Given the description of an element on the screen output the (x, y) to click on. 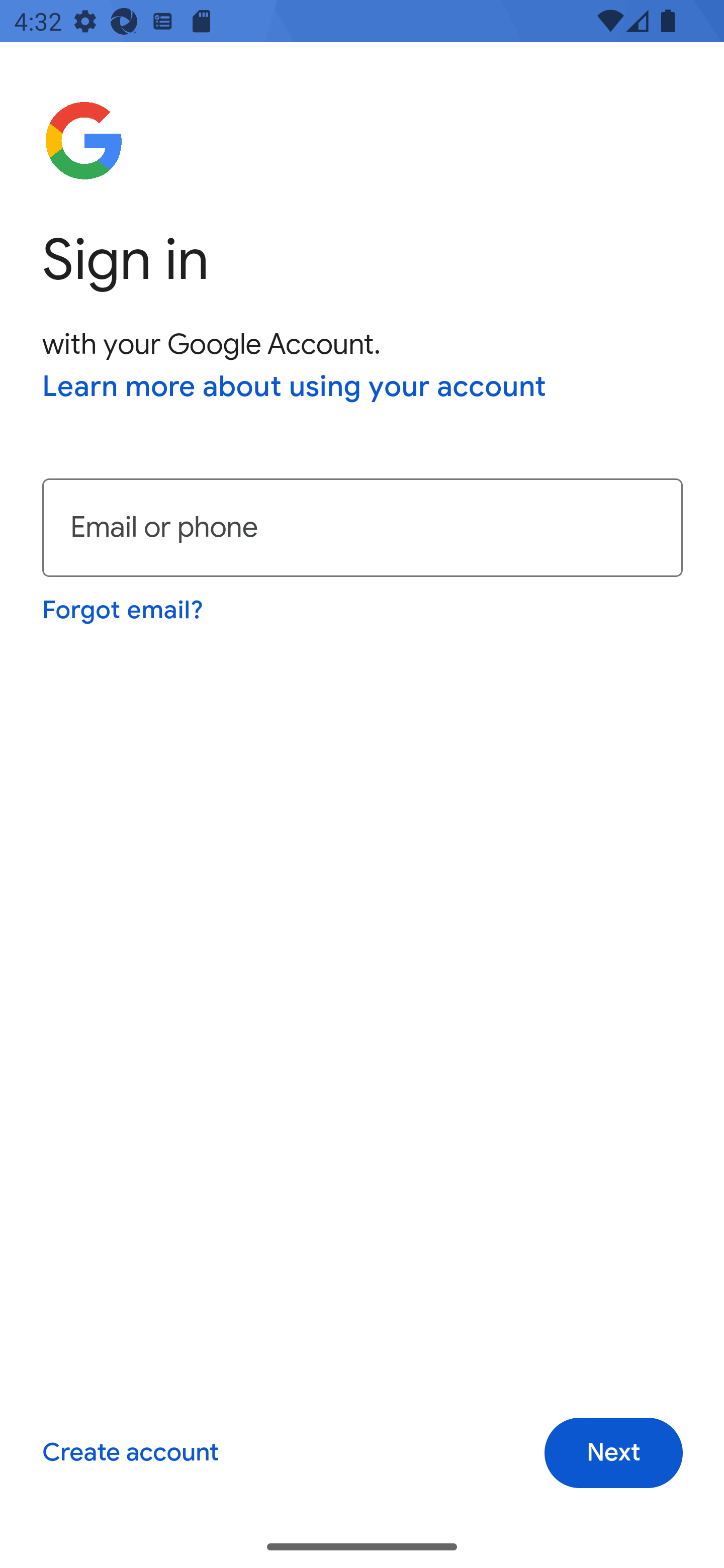
Learn more about using your account (294, 388)
Forgot email? (123, 609)
Create account (129, 1453)
Next (613, 1453)
